Given the description of an element on the screen output the (x, y) to click on. 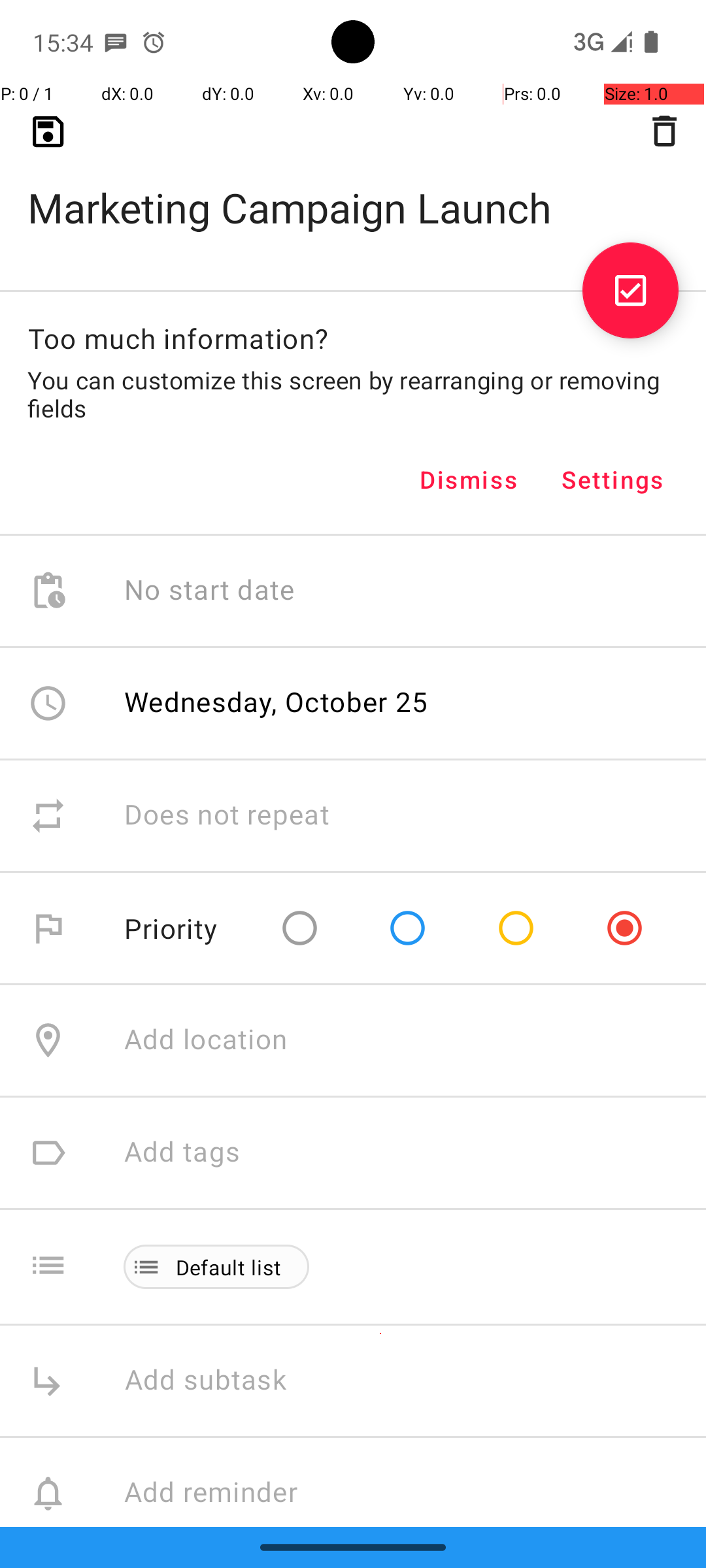
Marketing Campaign Launch Element type: android.widget.EditText (353, 186)
Wednesday, October 25 Element type: android.widget.TextView (276, 700)
